Given the description of an element on the screen output the (x, y) to click on. 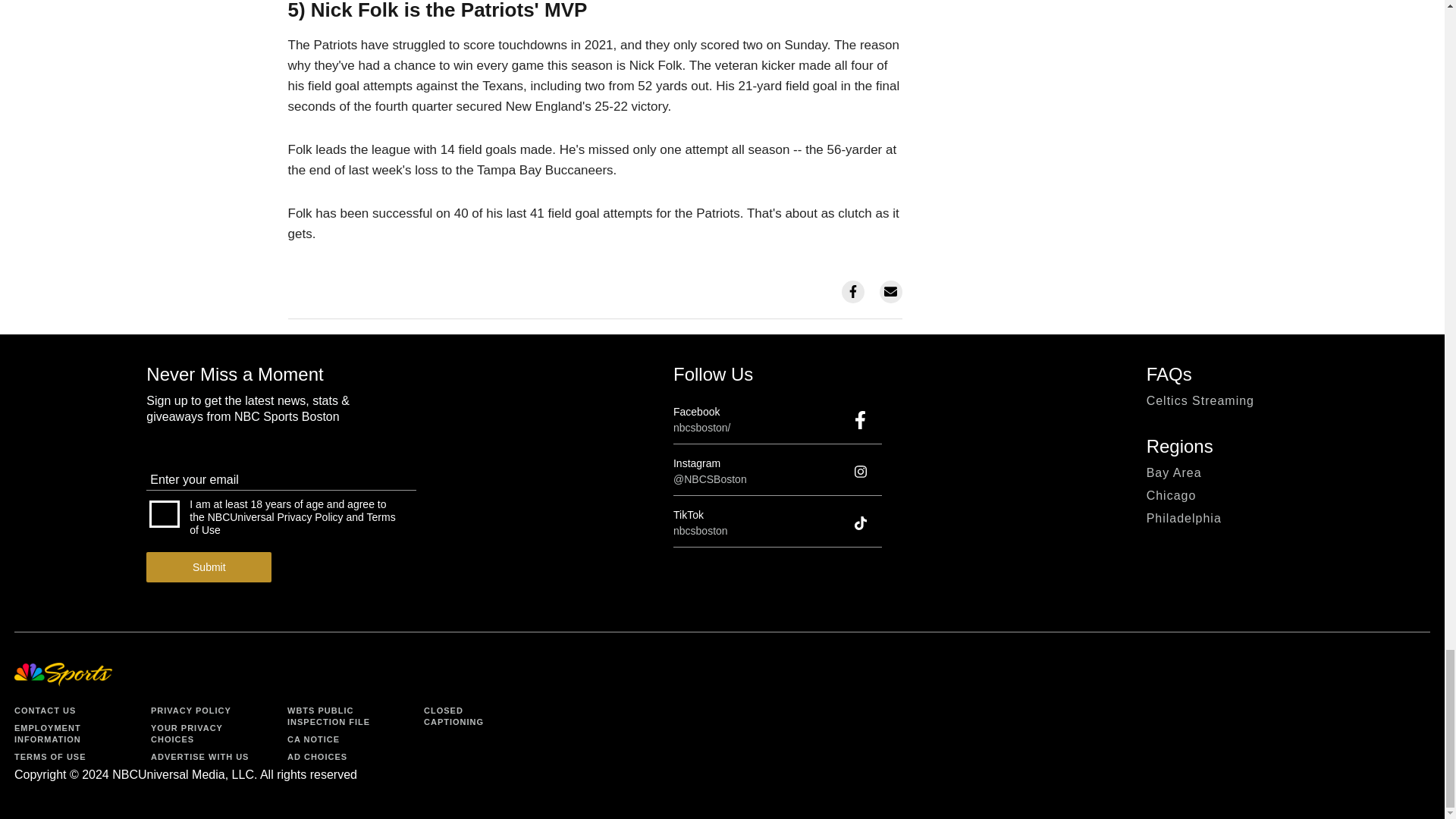
on (164, 513)
